Given the description of an element on the screen output the (x, y) to click on. 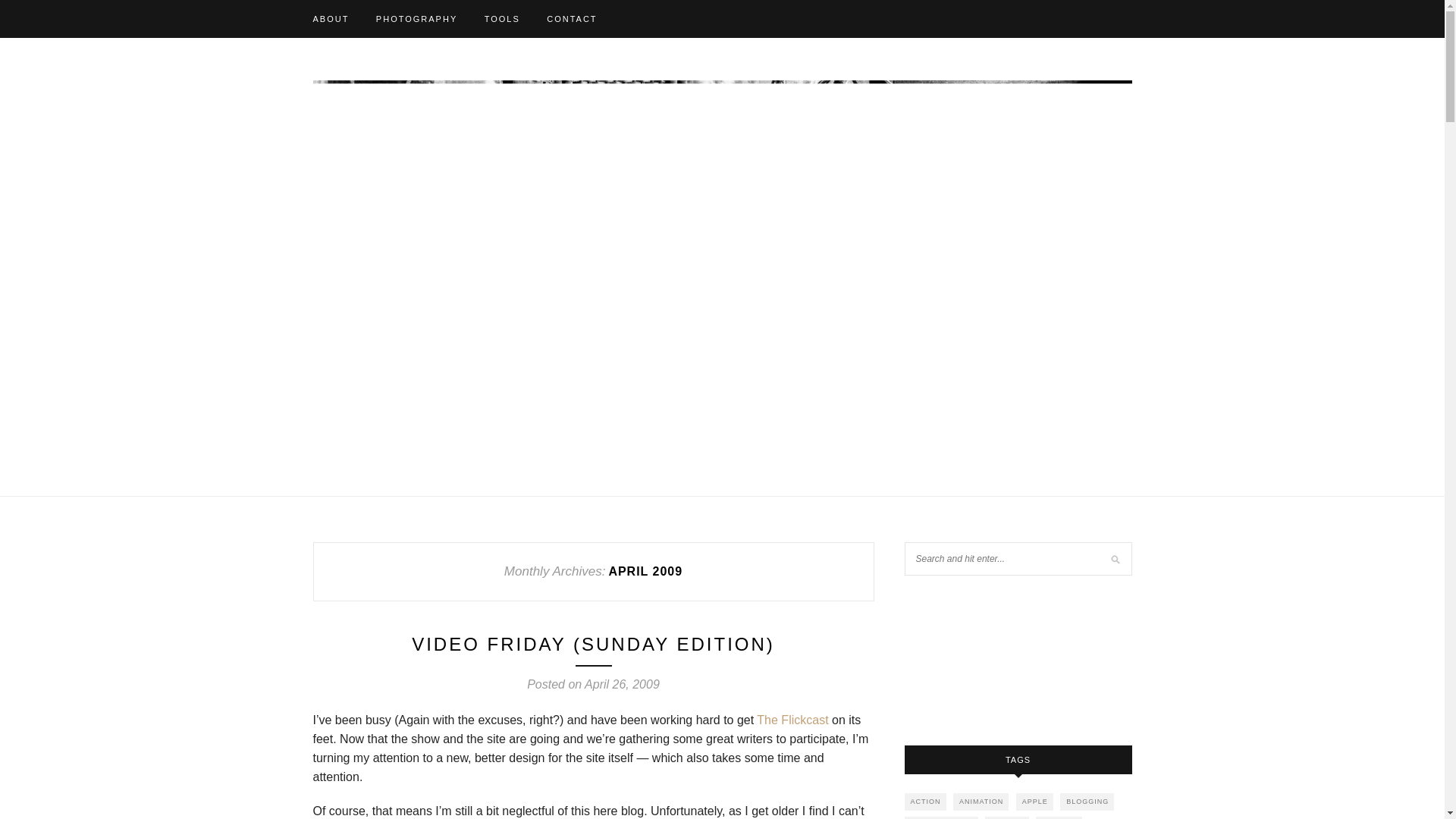
ABOUT (331, 18)
PHOTOGRAPHY (416, 18)
The Flickcast (792, 719)
TOOLS (501, 18)
CONTACT (571, 18)
